Given the description of an element on the screen output the (x, y) to click on. 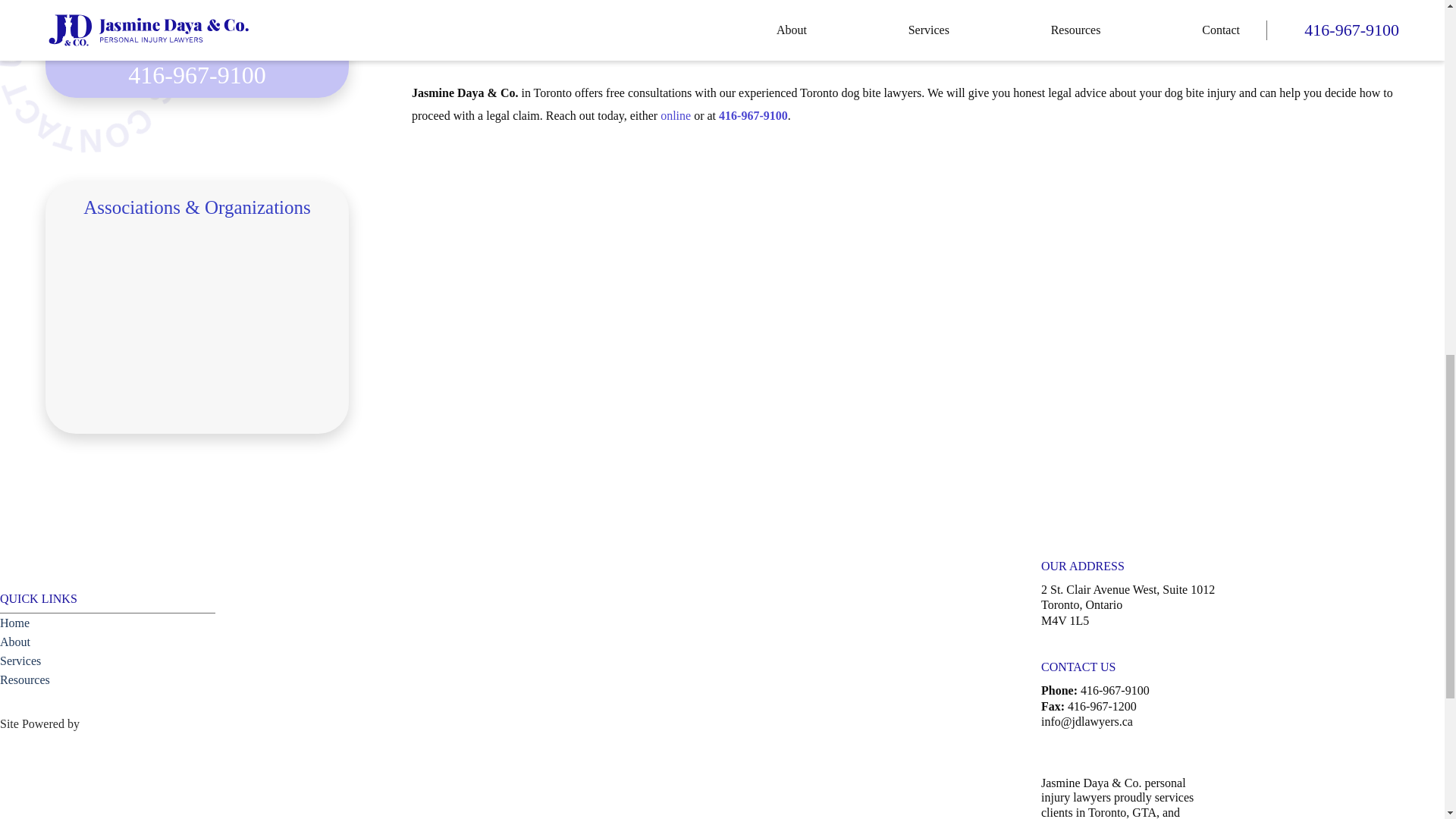
Services (20, 660)
Home (14, 622)
About (15, 641)
online (675, 115)
Resources (24, 679)
416-967-9100 (197, 74)
Send (199, 7)
Send (199, 7)
416-967-9100 (753, 115)
